Given the description of an element on the screen output the (x, y) to click on. 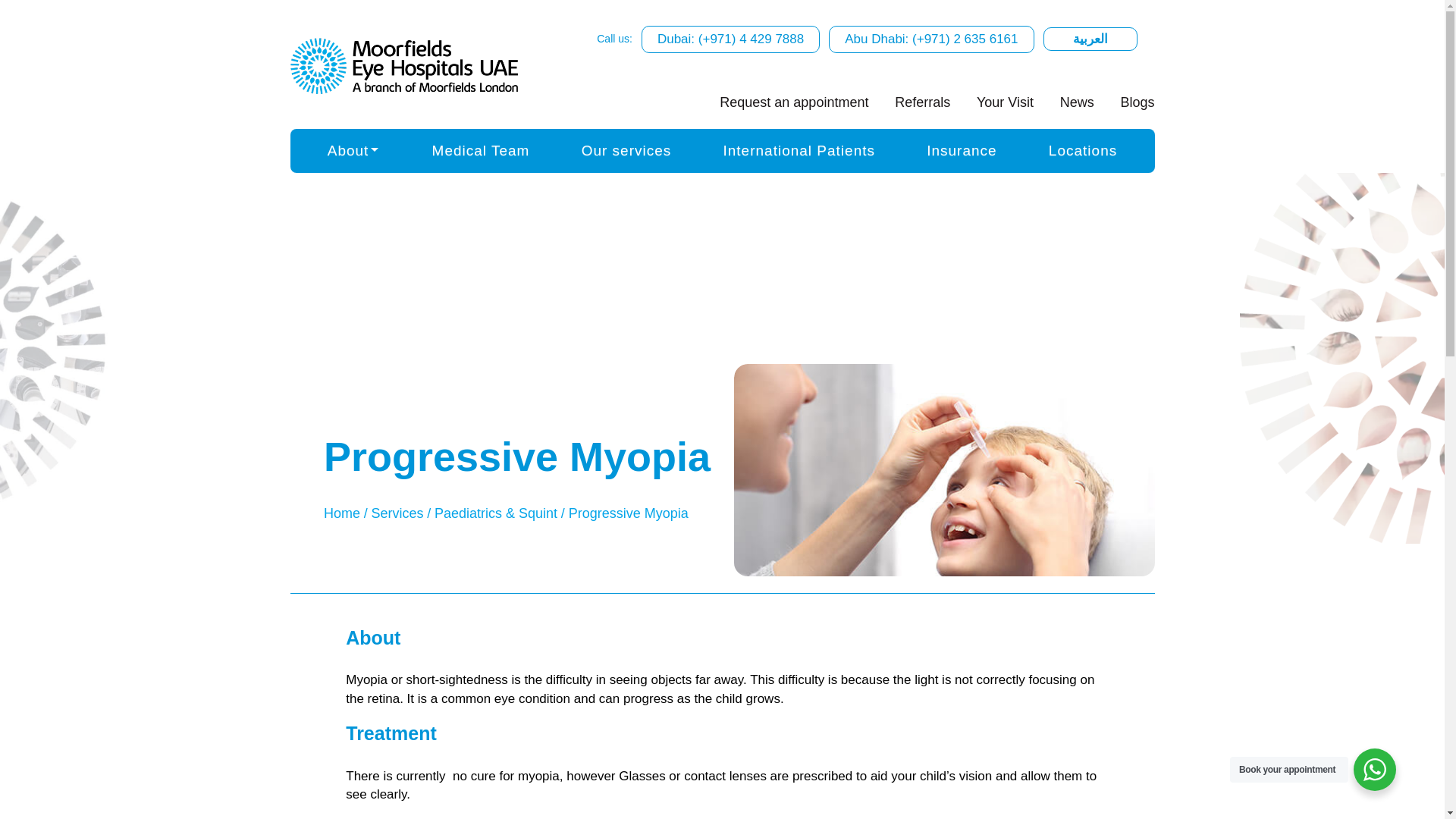
About (353, 150)
Our services (626, 150)
Referrals (921, 101)
Blogs (1137, 101)
Medical Team (480, 150)
Request an appointment (793, 101)
News (1076, 101)
Your Visit (1005, 101)
